Given the description of an element on the screen output the (x, y) to click on. 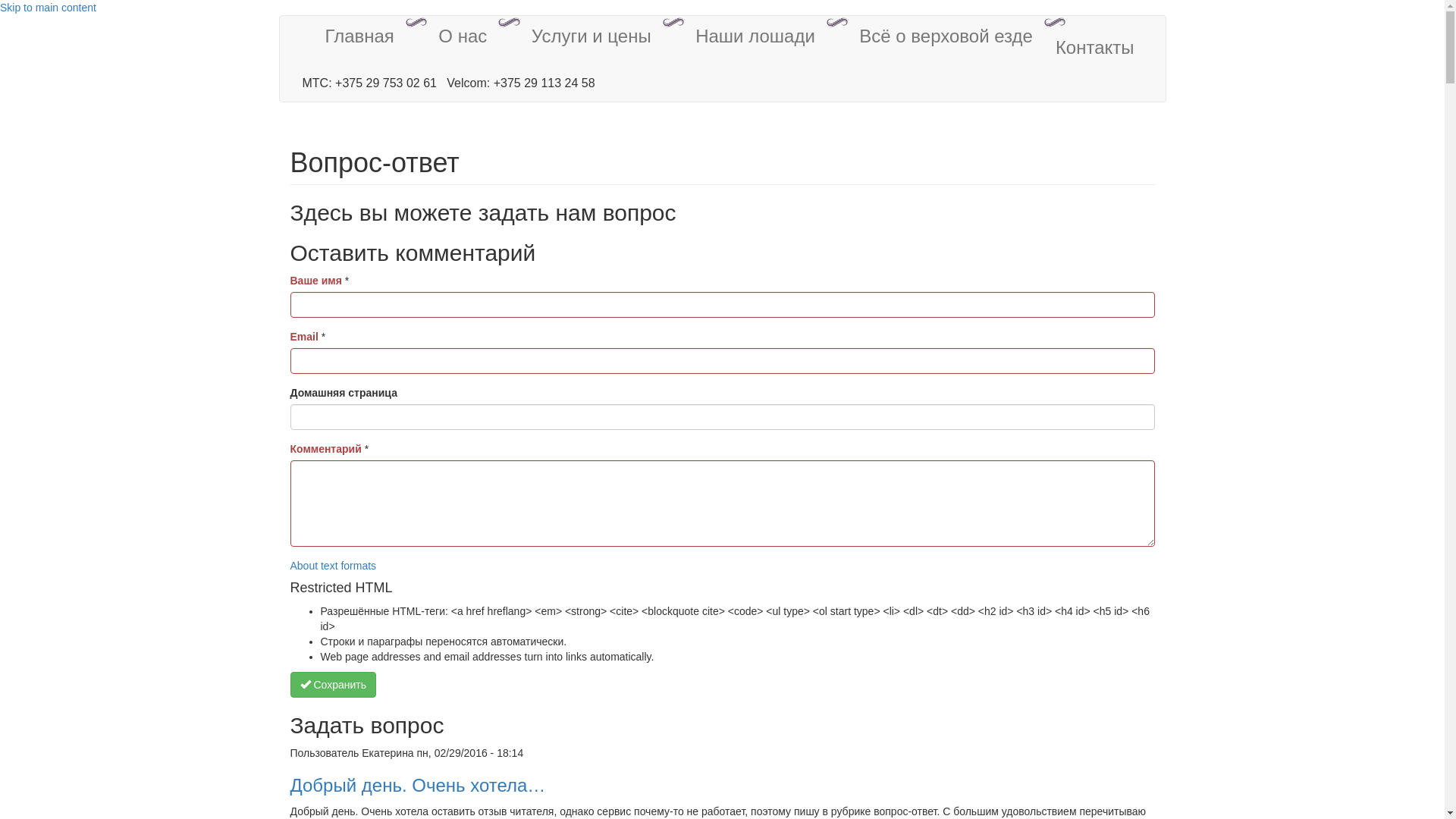
Skip to main content Element type: text (48, 7)
About text formats Element type: text (332, 565)
